Given the description of an element on the screen output the (x, y) to click on. 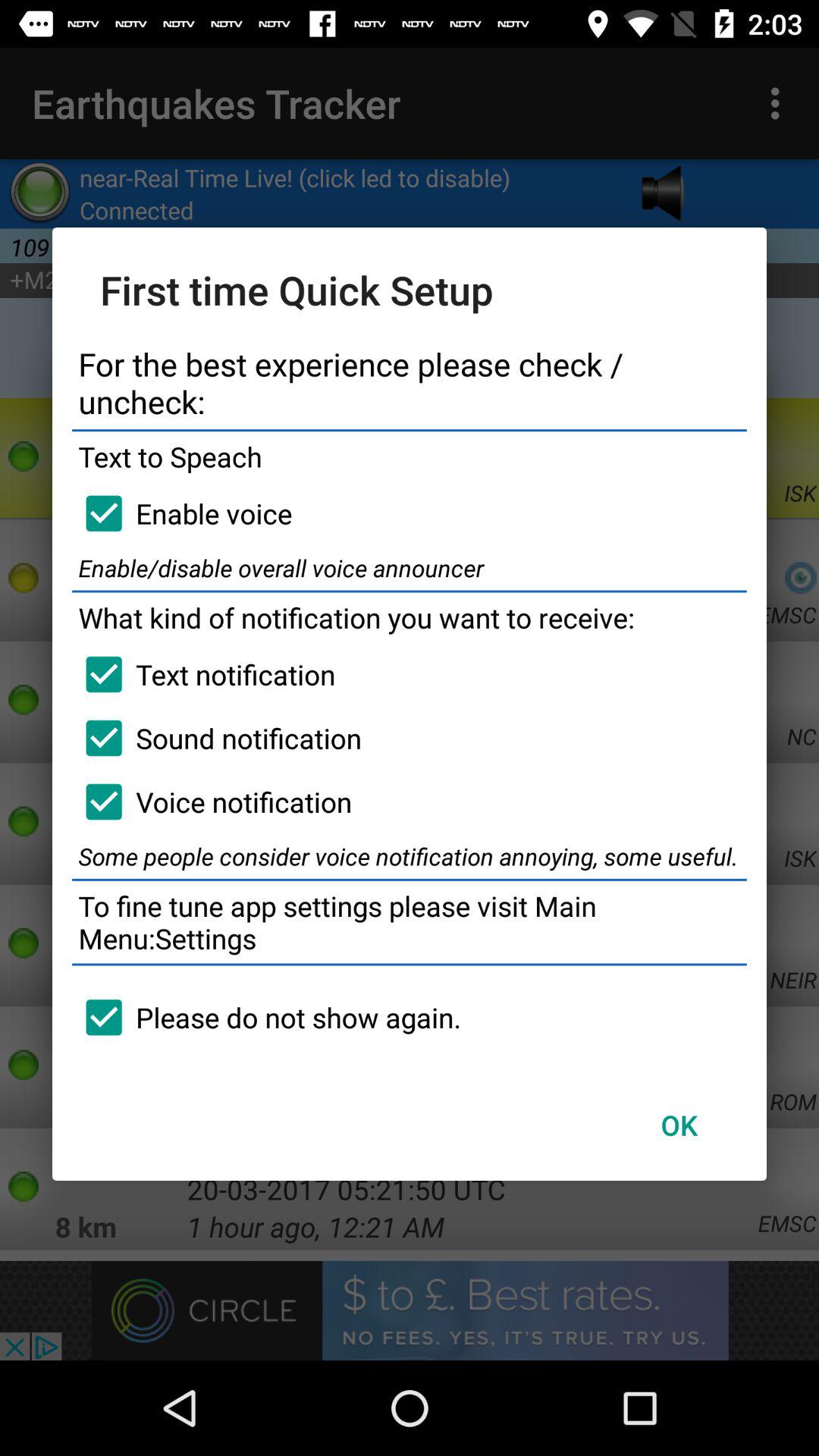
click the ok at the bottom right corner (678, 1124)
